Given the description of an element on the screen output the (x, y) to click on. 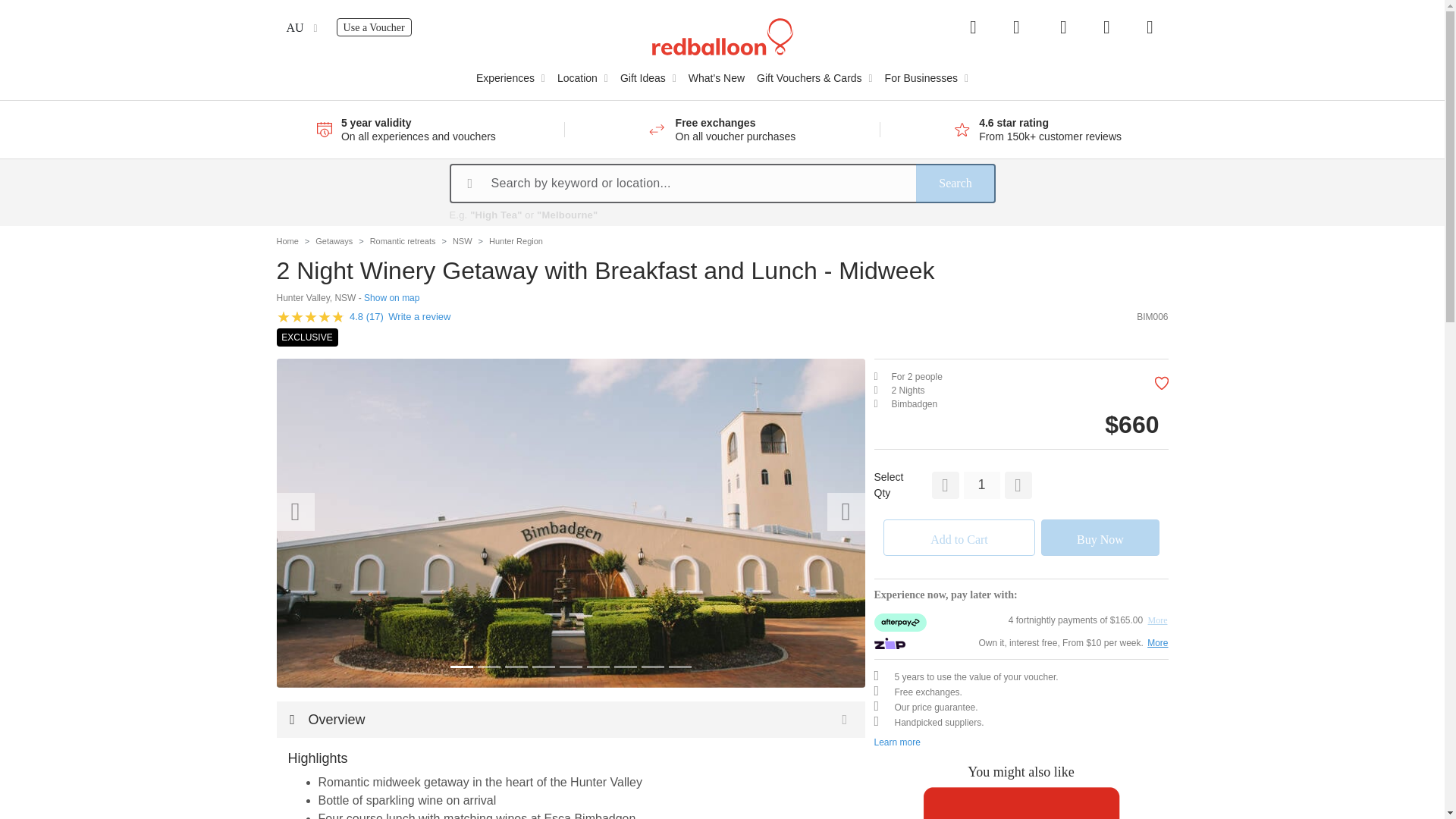
My account (1062, 27)
Favourites (1106, 27)
View Cart (1149, 27)
RedBalloon Home (722, 35)
Free Exchange Promise (656, 129)
Favourites (1106, 27)
Show on map (391, 297)
4.6 Star Rating (962, 129)
My cart (1149, 27)
1 (980, 484)
Read more (662, 129)
Read more (966, 129)
Experiences (374, 27)
Read more (510, 77)
